Given the description of an element on the screen output the (x, y) to click on. 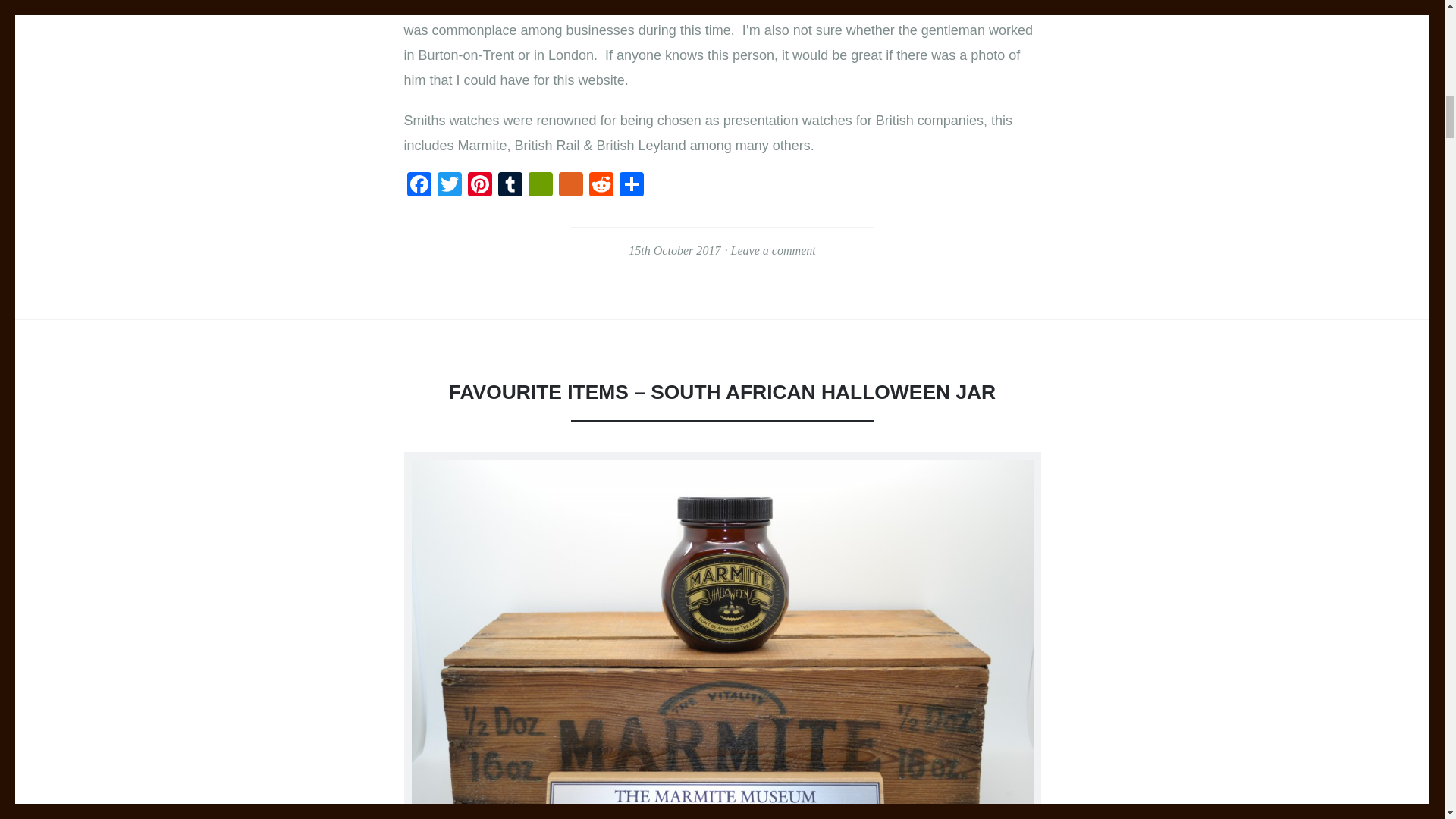
Tumblr (509, 185)
Pinterest (479, 185)
Yummly (569, 185)
Twitter (448, 185)
PrintFriendly (539, 185)
Facebook (418, 185)
Facebook (418, 185)
Yummly (569, 185)
Pinterest (479, 185)
Tumblr (509, 185)
